Given the description of an element on the screen output the (x, y) to click on. 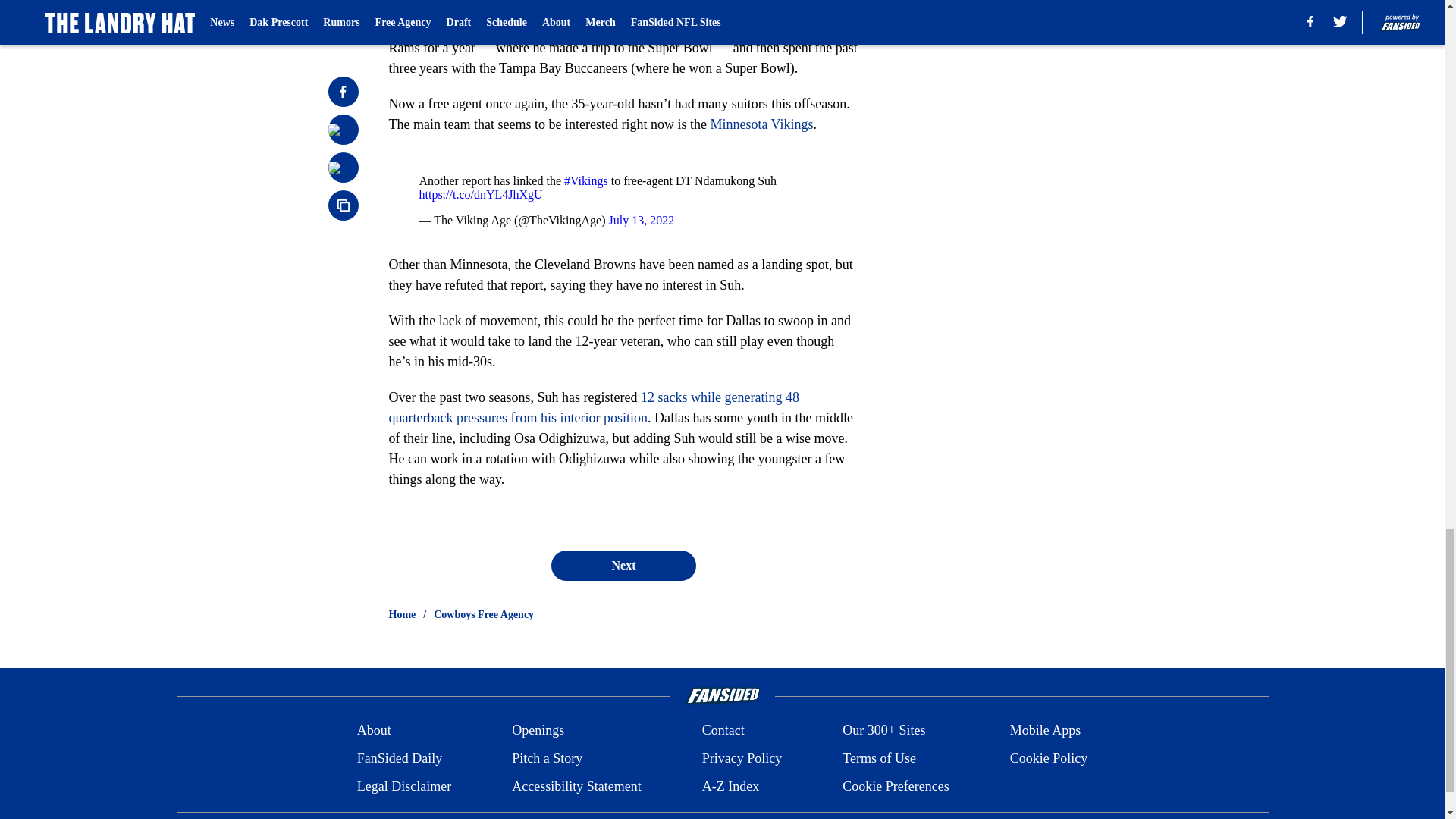
Contact (722, 730)
Next (622, 565)
Mobile Apps (1045, 730)
Minnesota Vikings (761, 124)
About (373, 730)
July 13, 2022 (641, 219)
Cowboys Free Agency (483, 614)
Pitch a Story (547, 758)
Home (401, 614)
